Given the description of an element on the screen output the (x, y) to click on. 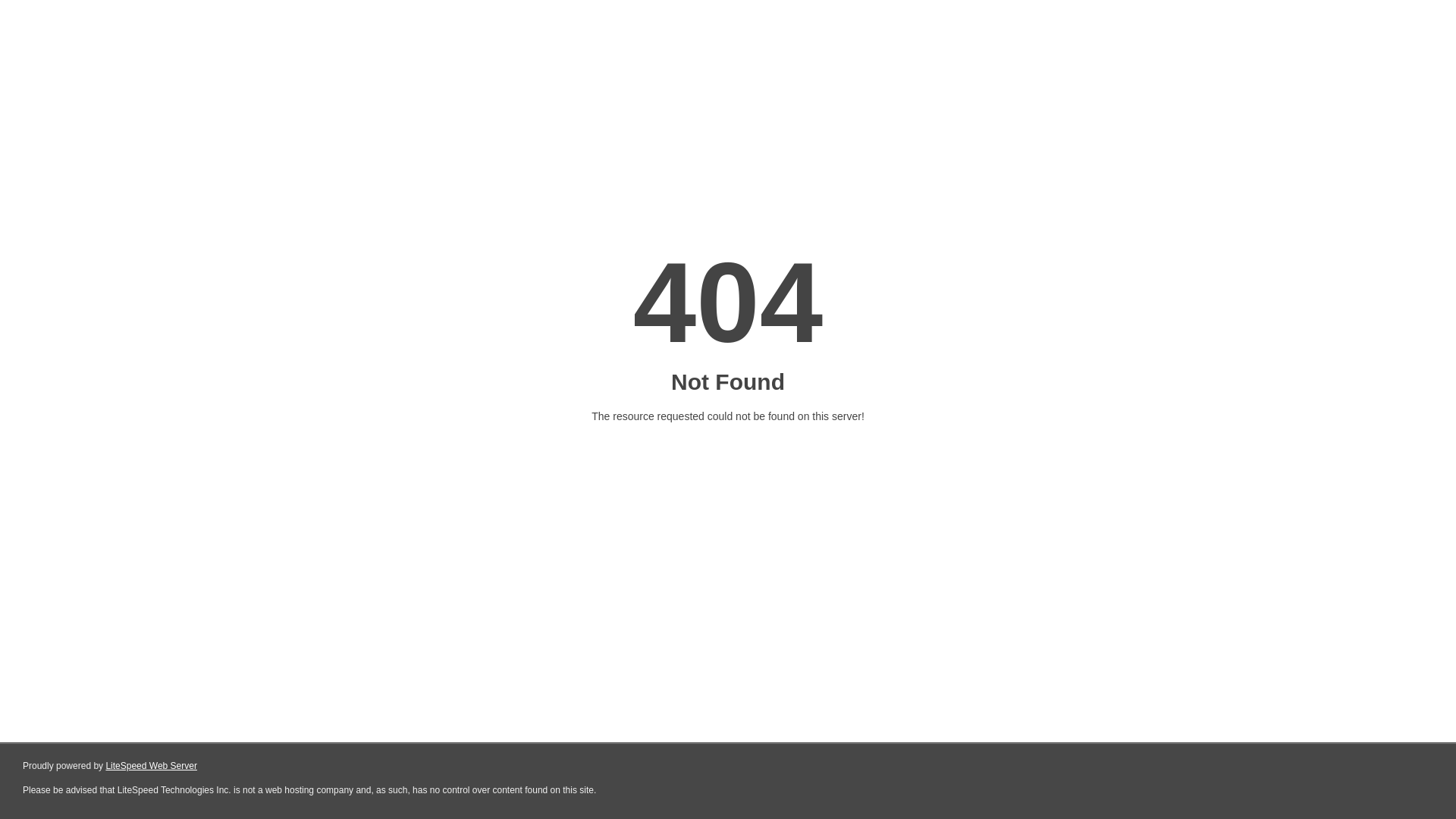
LiteSpeed Web Server Element type: text (151, 765)
